Given the description of an element on the screen output the (x, y) to click on. 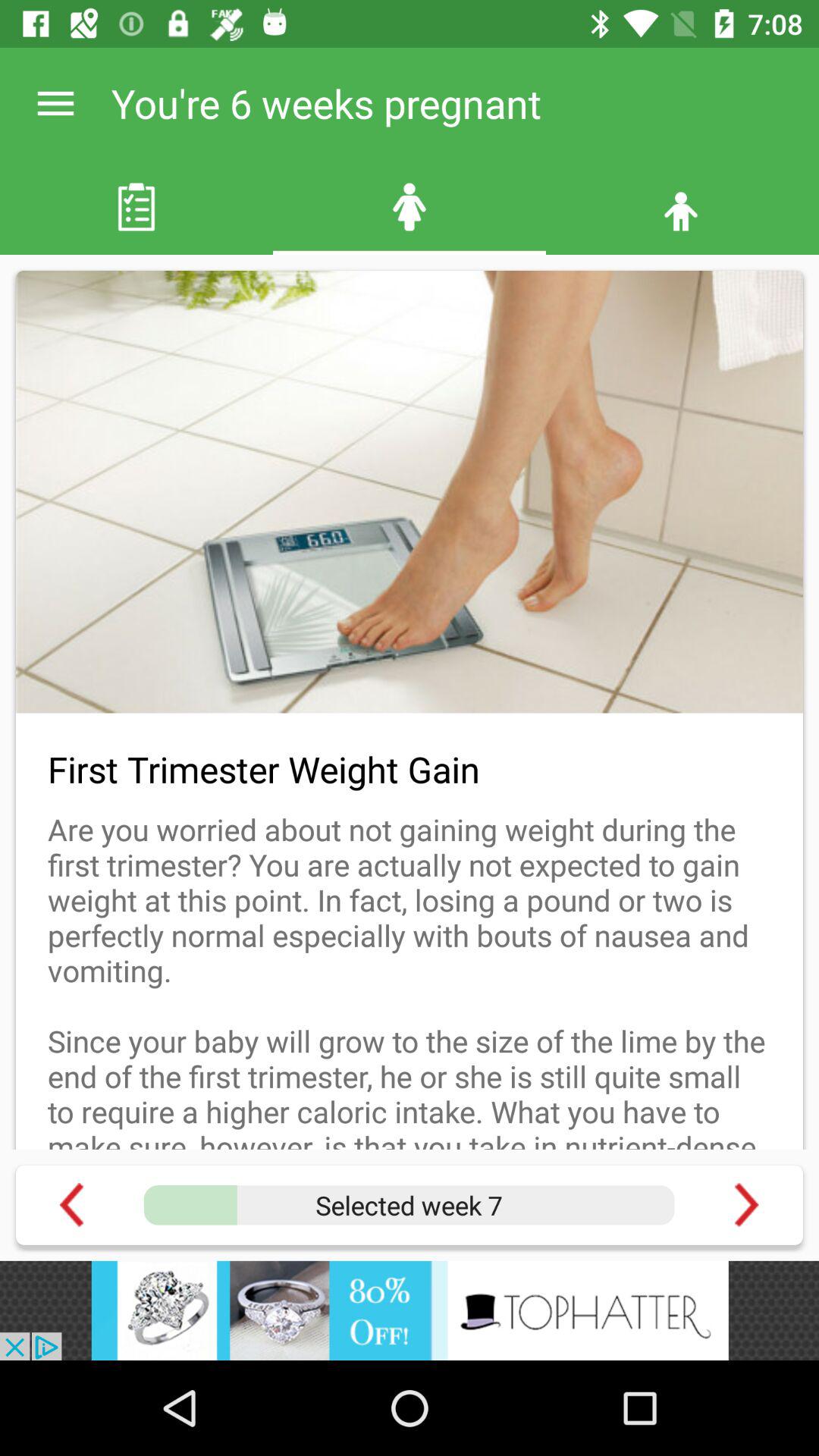
advertising link (409, 1310)
